Given the description of an element on the screen output the (x, y) to click on. 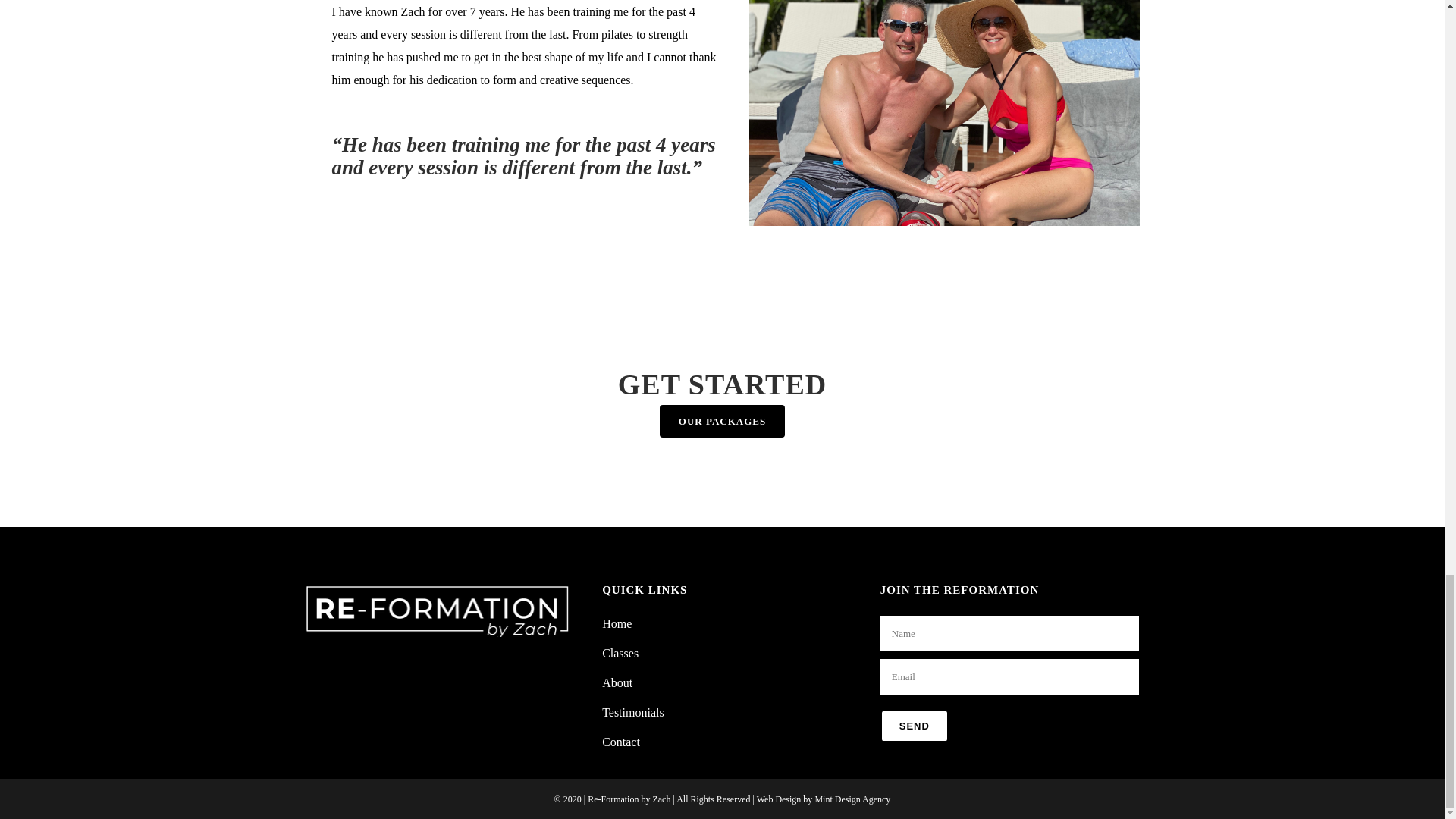
Mint Design Agency (851, 798)
Julia (944, 113)
Testimonials (729, 712)
Send (914, 726)
OUR PACKAGES (721, 420)
Send (914, 726)
Classes (729, 653)
About (729, 682)
Home (729, 623)
Contact (729, 742)
